Given the description of an element on the screen output the (x, y) to click on. 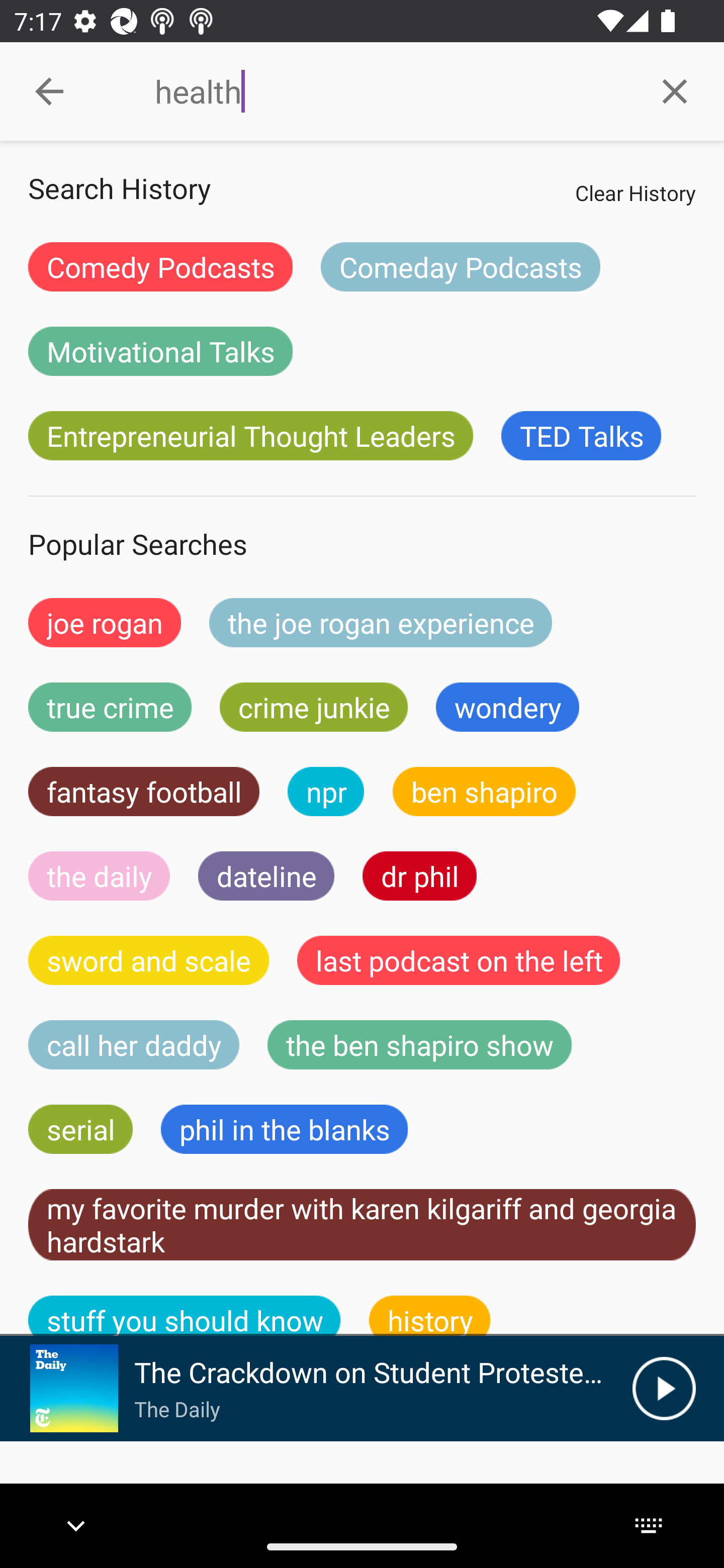
Collapse (49, 91)
Clear query (674, 90)
health (389, 91)
Clear History (634, 192)
Comedy Podcasts (160, 266)
Comeday Podcasts (460, 266)
Motivational Talks (160, 351)
Entrepreneurial Thought Leaders (250, 435)
TED Talks (581, 435)
joe rogan (104, 622)
the joe rogan experience (380, 622)
true crime (109, 707)
crime junkie (313, 707)
wondery (507, 707)
fantasy football (143, 791)
npr (325, 791)
ben shapiro (483, 791)
the daily (99, 875)
dateline (266, 875)
dr phil (419, 875)
sword and scale (148, 960)
last podcast on the left (458, 960)
call her daddy (133, 1044)
the ben shapiro show (419, 1044)
serial (80, 1128)
phil in the blanks (283, 1128)
stuff you should know (184, 1315)
history (429, 1315)
Play (663, 1388)
